Given the description of an element on the screen output the (x, y) to click on. 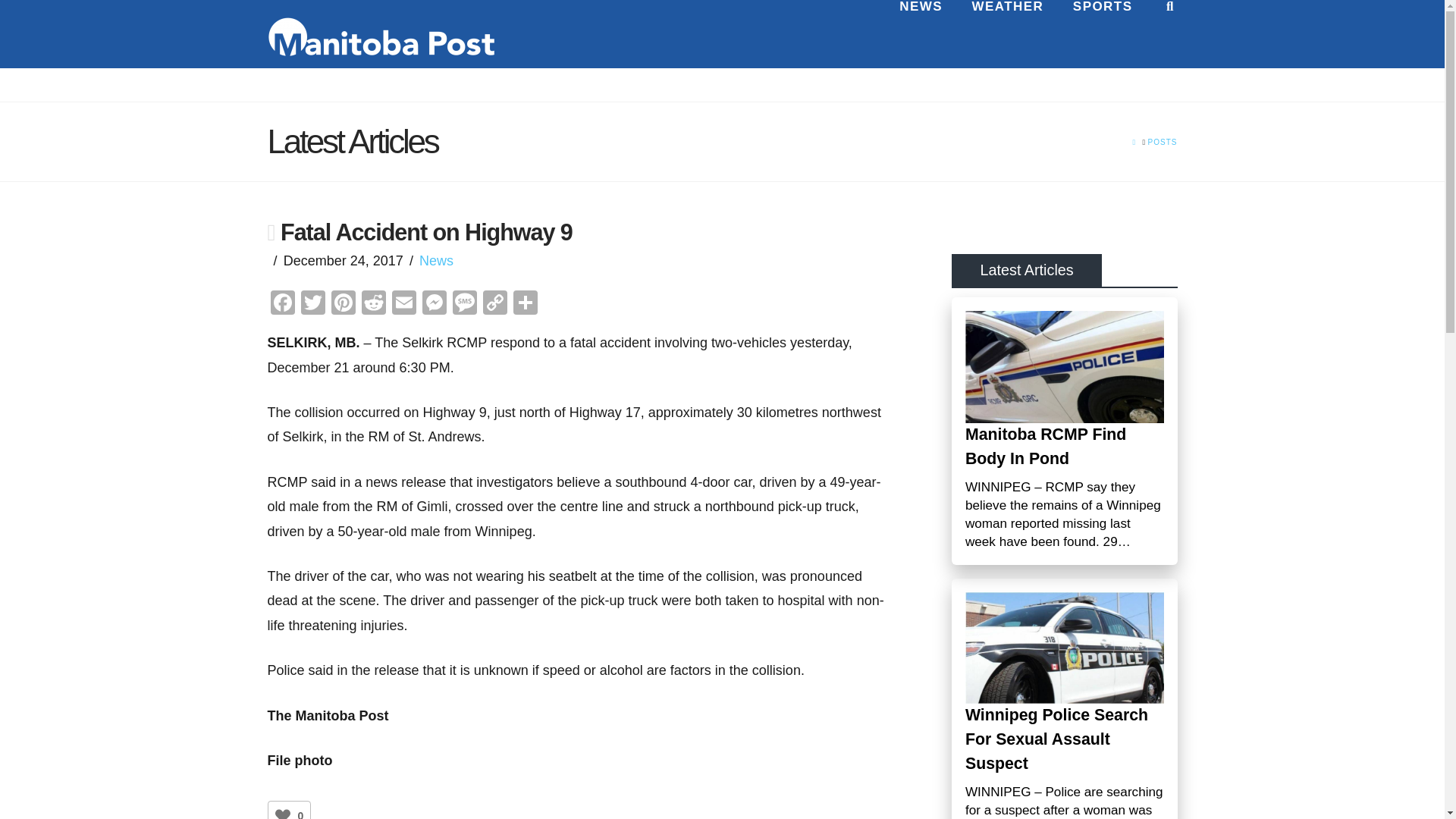
Pinterest (342, 304)
Message (463, 304)
POSTS (1162, 142)
Email (403, 304)
Reddit (373, 304)
Twitter (312, 304)
Messenger (433, 304)
NEWS (919, 33)
Copy Link (494, 304)
Facebook (281, 304)
Messenger (433, 304)
Twitter (312, 304)
Pinterest (342, 304)
Message (463, 304)
Facebook (281, 304)
